Given the description of an element on the screen output the (x, y) to click on. 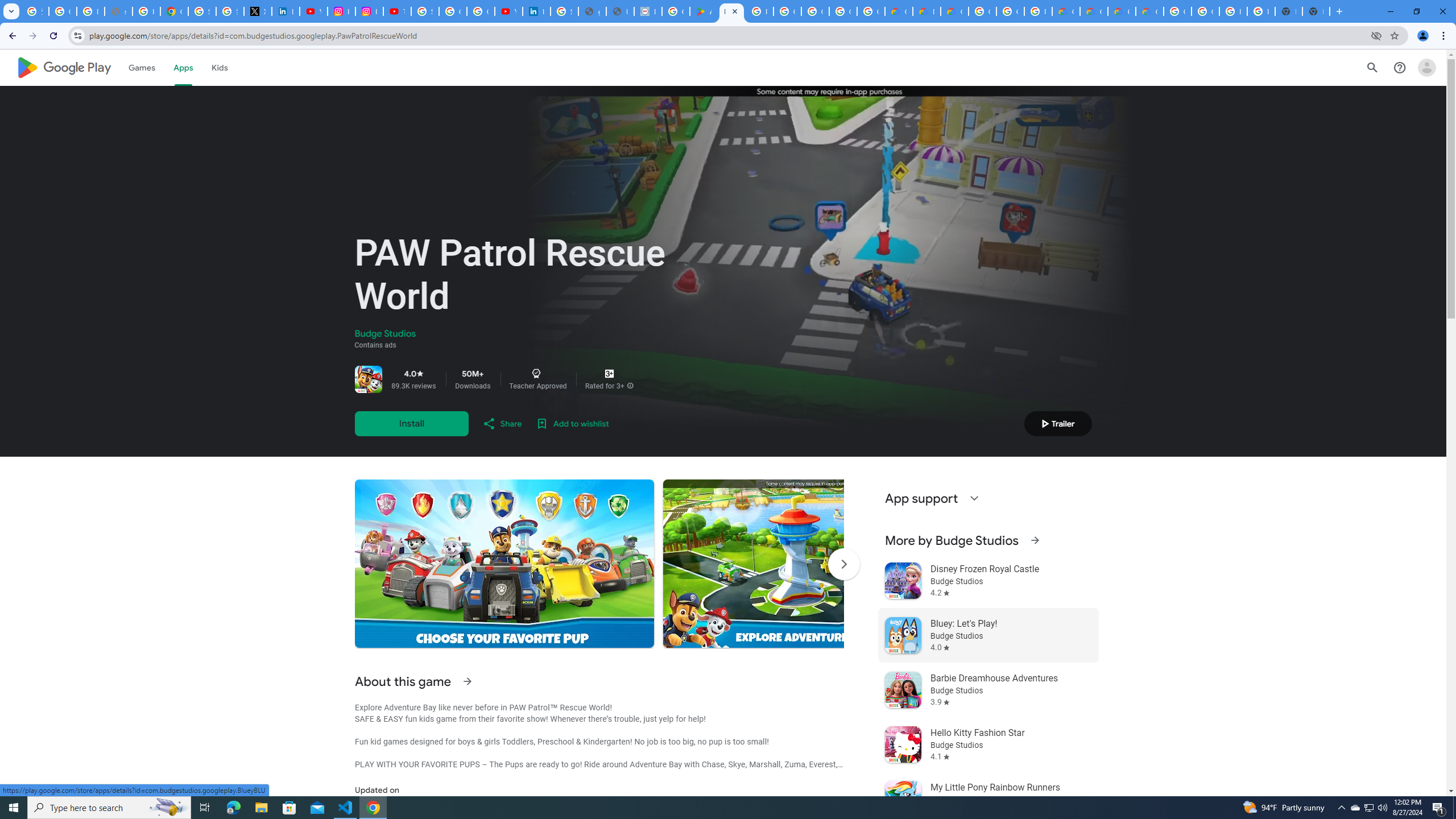
Google Cloud Pricing Calculator (1093, 11)
Google Play logo (64, 67)
Play trailer (1058, 423)
See more information on About this game (466, 681)
Install (410, 423)
Address and search bar (726, 35)
Identity verification via Persona | LinkedIn Help (536, 11)
Sign in - Google Accounts (202, 11)
User Details (620, 11)
Scroll Next (843, 563)
LinkedIn Privacy Policy (285, 11)
